Given the description of an element on the screen output the (x, y) to click on. 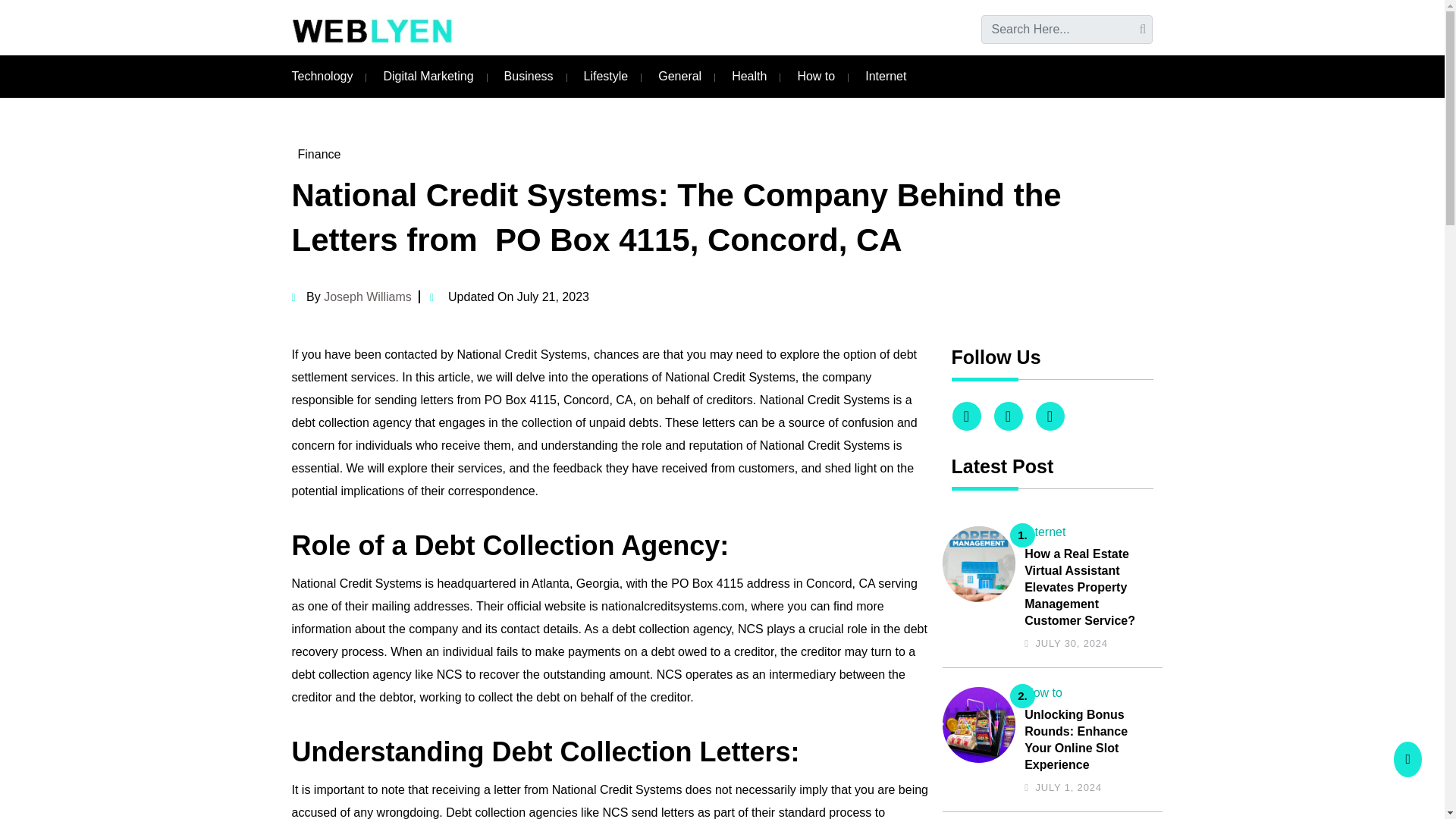
How to (1043, 692)
Unlocking Bonus Rounds: Enhance Your Online Slot Experience (1089, 739)
How to (815, 75)
Technology (321, 75)
Search for: (1067, 29)
Lifestyle (605, 75)
General (679, 75)
Health (749, 75)
Finance (318, 154)
Digital Marketing (427, 75)
Internet (884, 75)
Joseph Williams (367, 296)
Internet (1045, 531)
Business (528, 75)
